Given the description of an element on the screen output the (x, y) to click on. 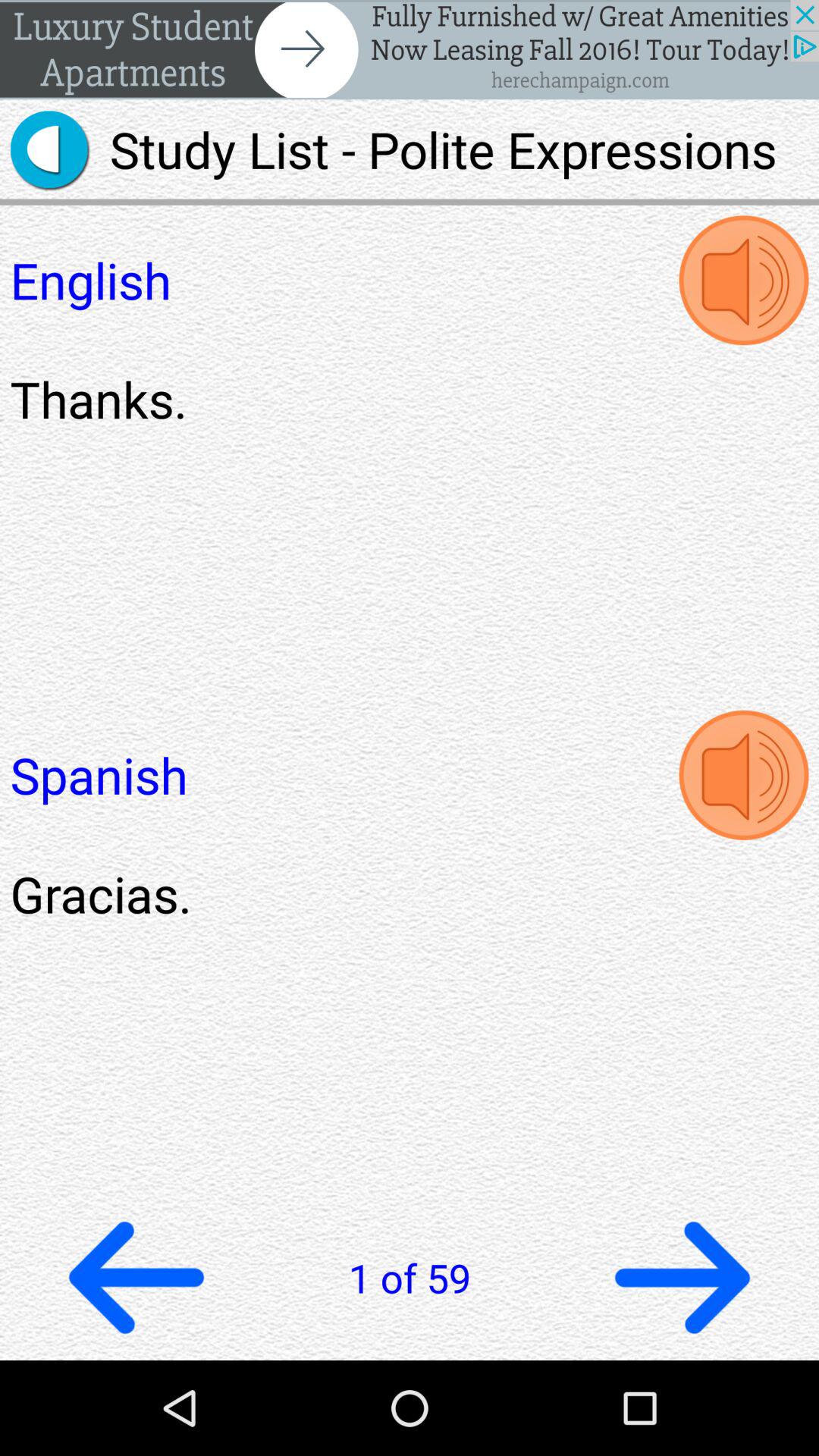
next page (682, 1277)
